Given the description of an element on the screen output the (x, y) to click on. 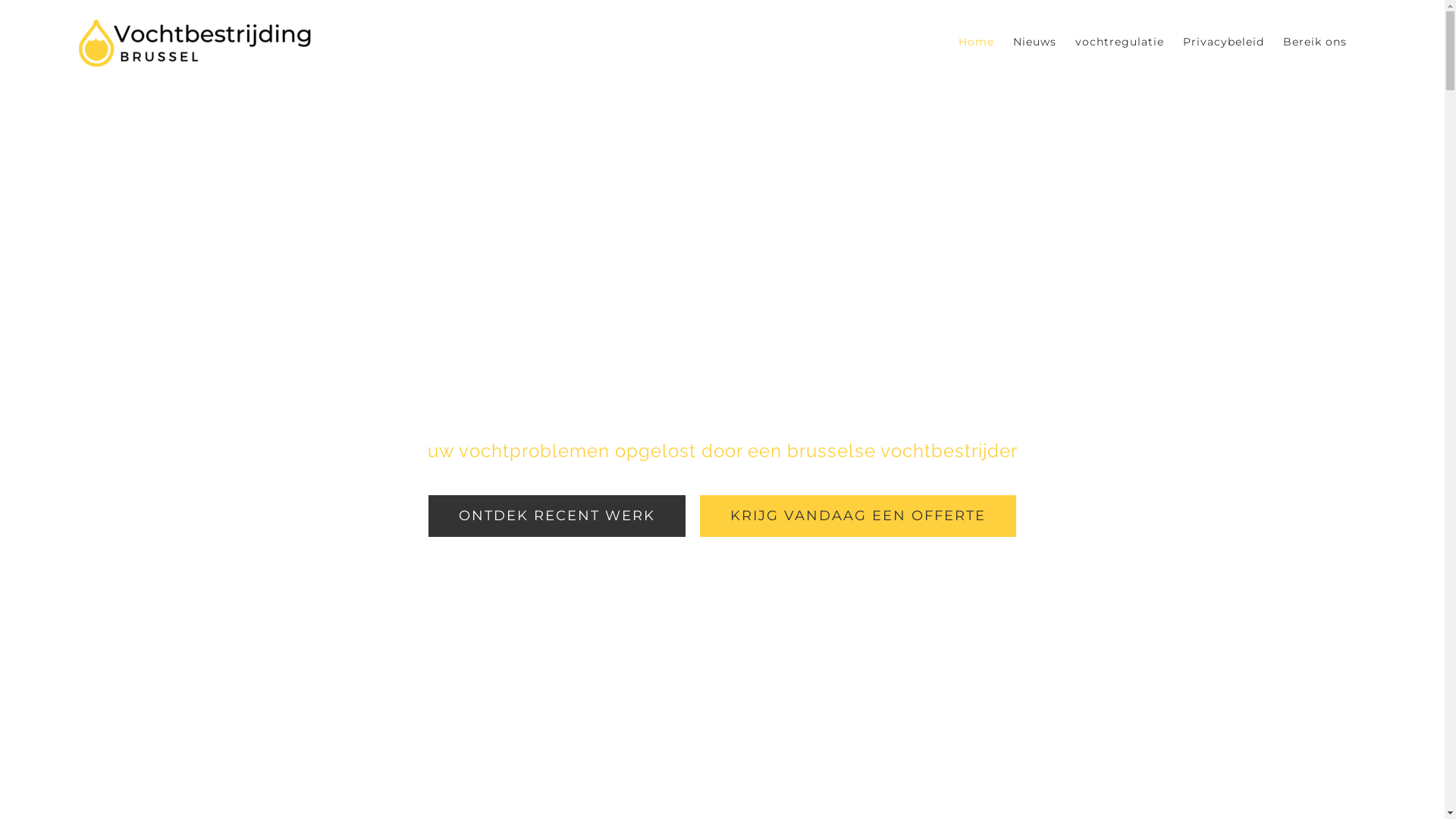
vochtregulatie Element type: text (1119, 41)
Bereik ons Element type: text (1314, 41)
Nieuws Element type: text (1034, 41)
ONTDEK RECENT WERK Element type: text (556, 515)
Home Element type: text (976, 41)
KRIJG VANDAAG EEN OFFERTE Element type: text (857, 515)
Privacybeleid Element type: text (1223, 41)
